Given the description of an element on the screen output the (x, y) to click on. 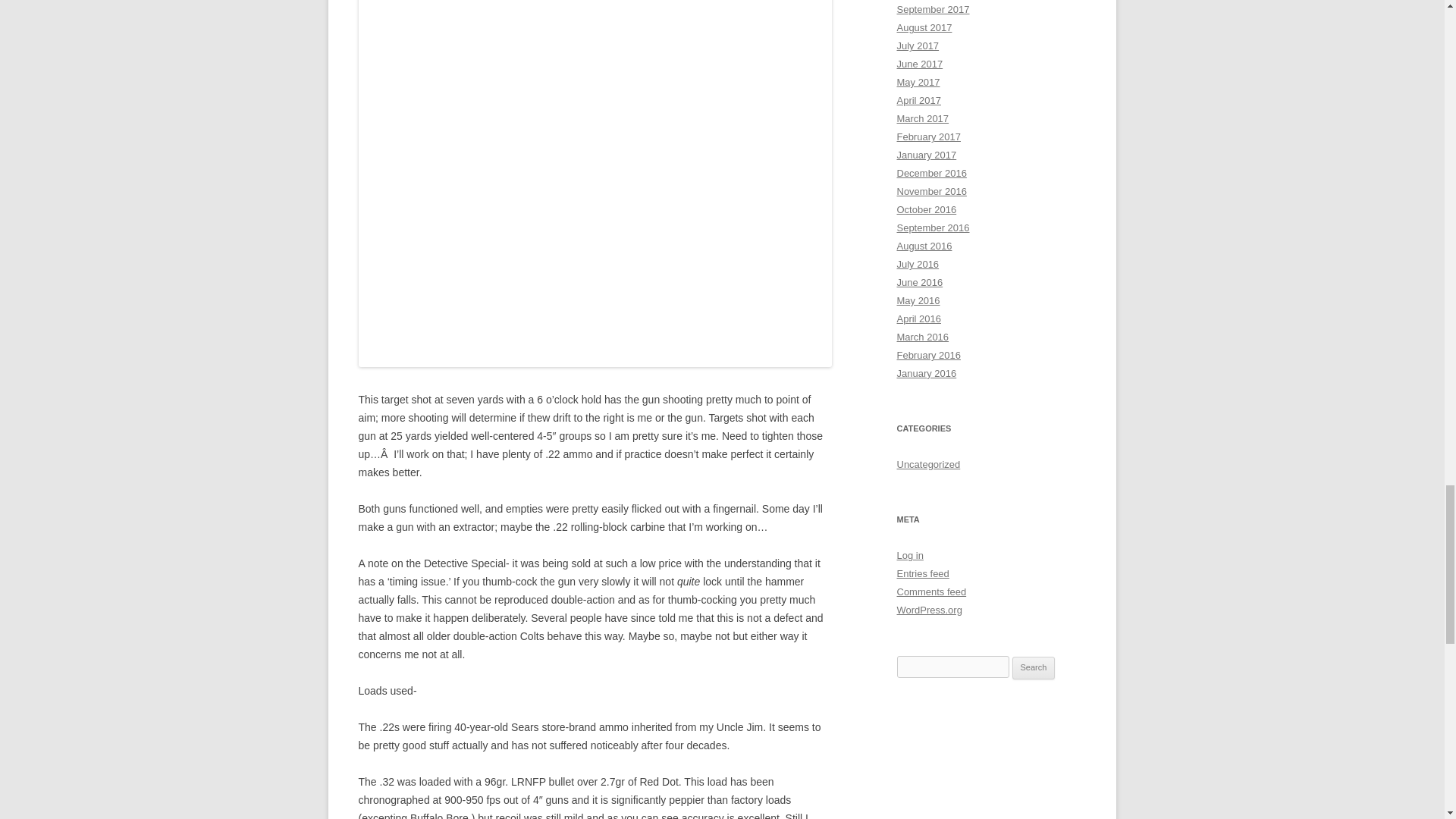
Search (1033, 667)
